Given the description of an element on the screen output the (x, y) to click on. 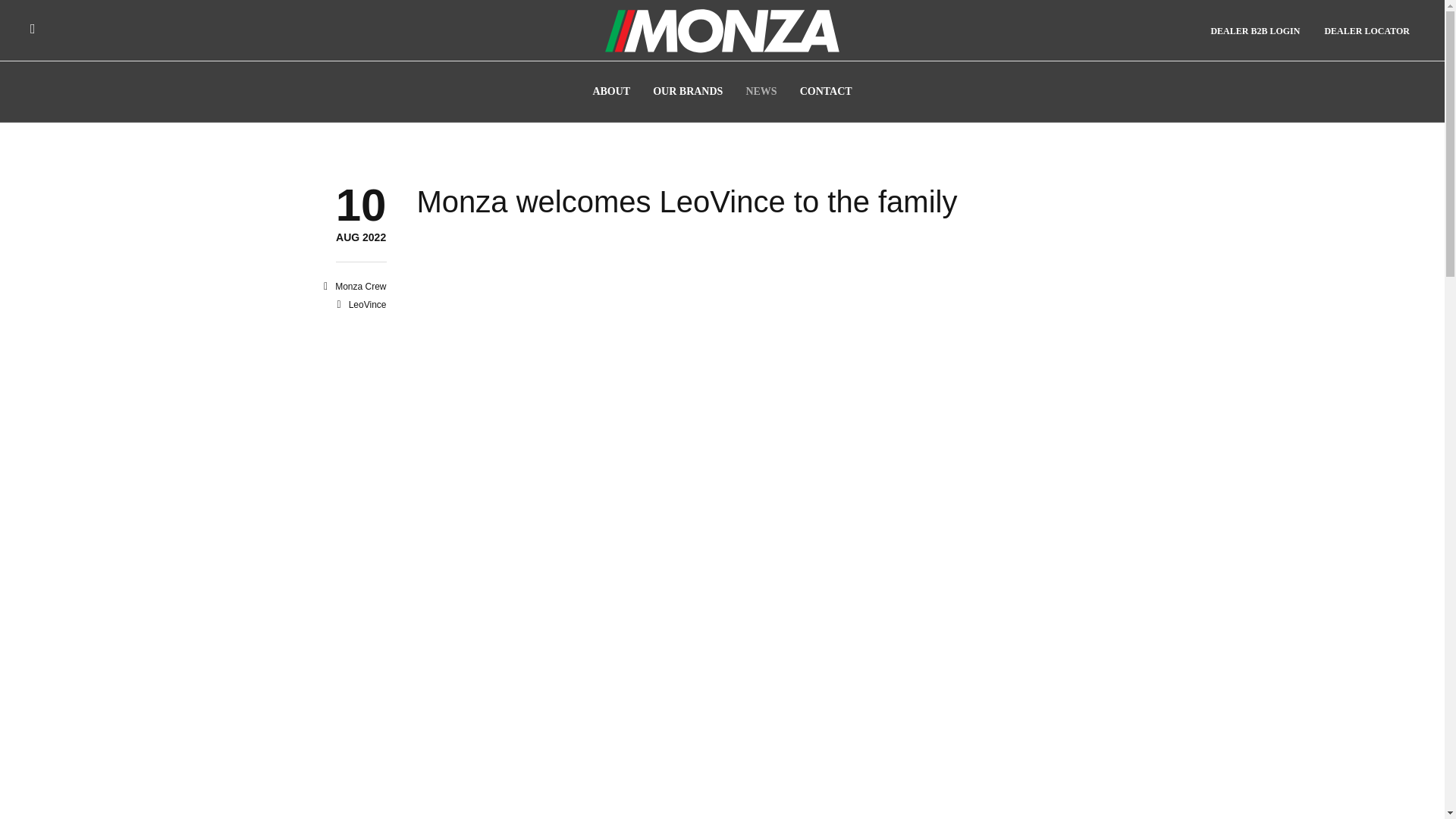
DEALER LOCATOR (1366, 31)
OUR BRANDS (687, 91)
DEALER B2B LOGIN (1254, 31)
Dealer Locator (1366, 31)
Posts by Monza Crew (359, 286)
